Given the description of an element on the screen output the (x, y) to click on. 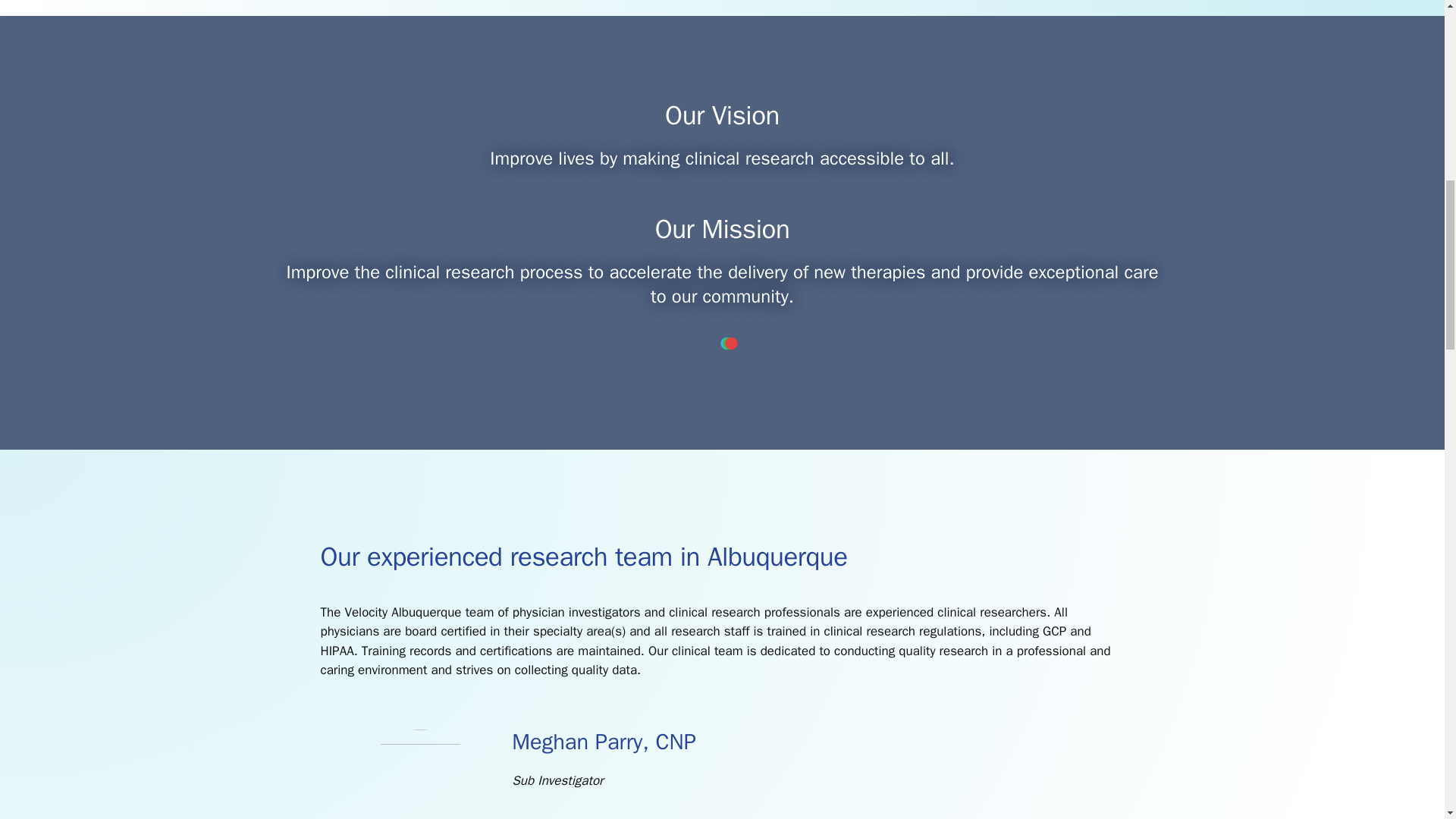
Meghan Parry, CNP (603, 741)
Meghan Parry, CNP (420, 740)
